Given the description of an element on the screen output the (x, y) to click on. 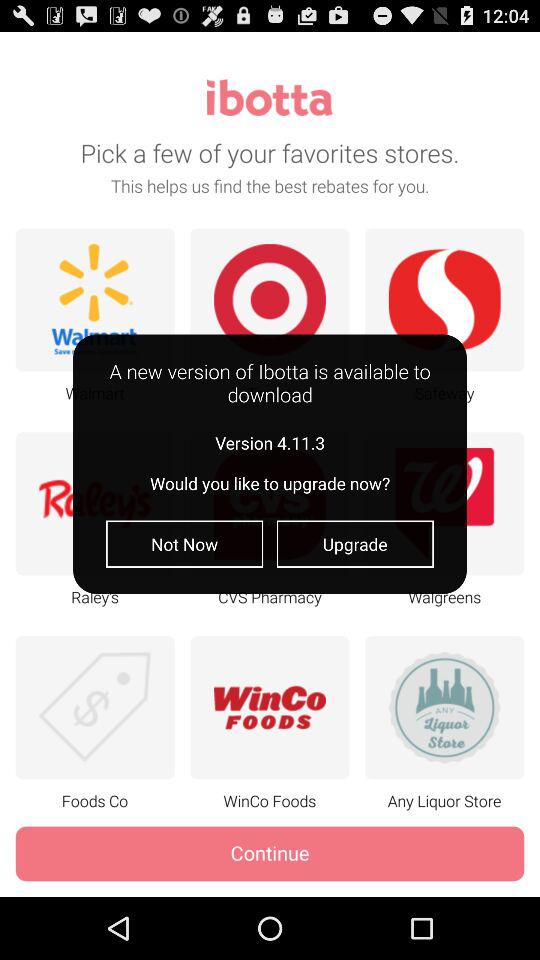
click the not now (184, 543)
